Given the description of an element on the screen output the (x, y) to click on. 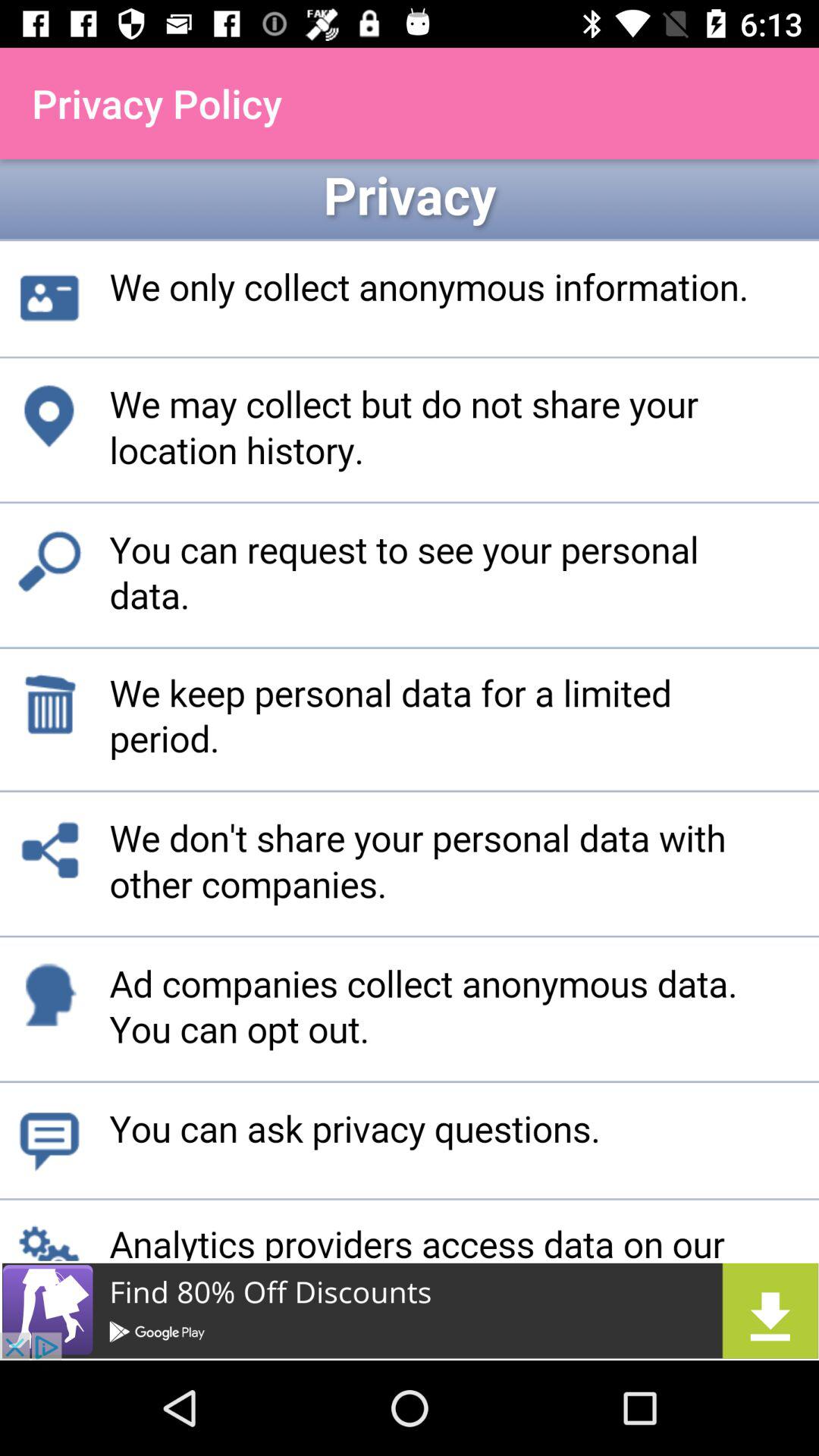
clickable advertisement (409, 1310)
